Given the description of an element on the screen output the (x, y) to click on. 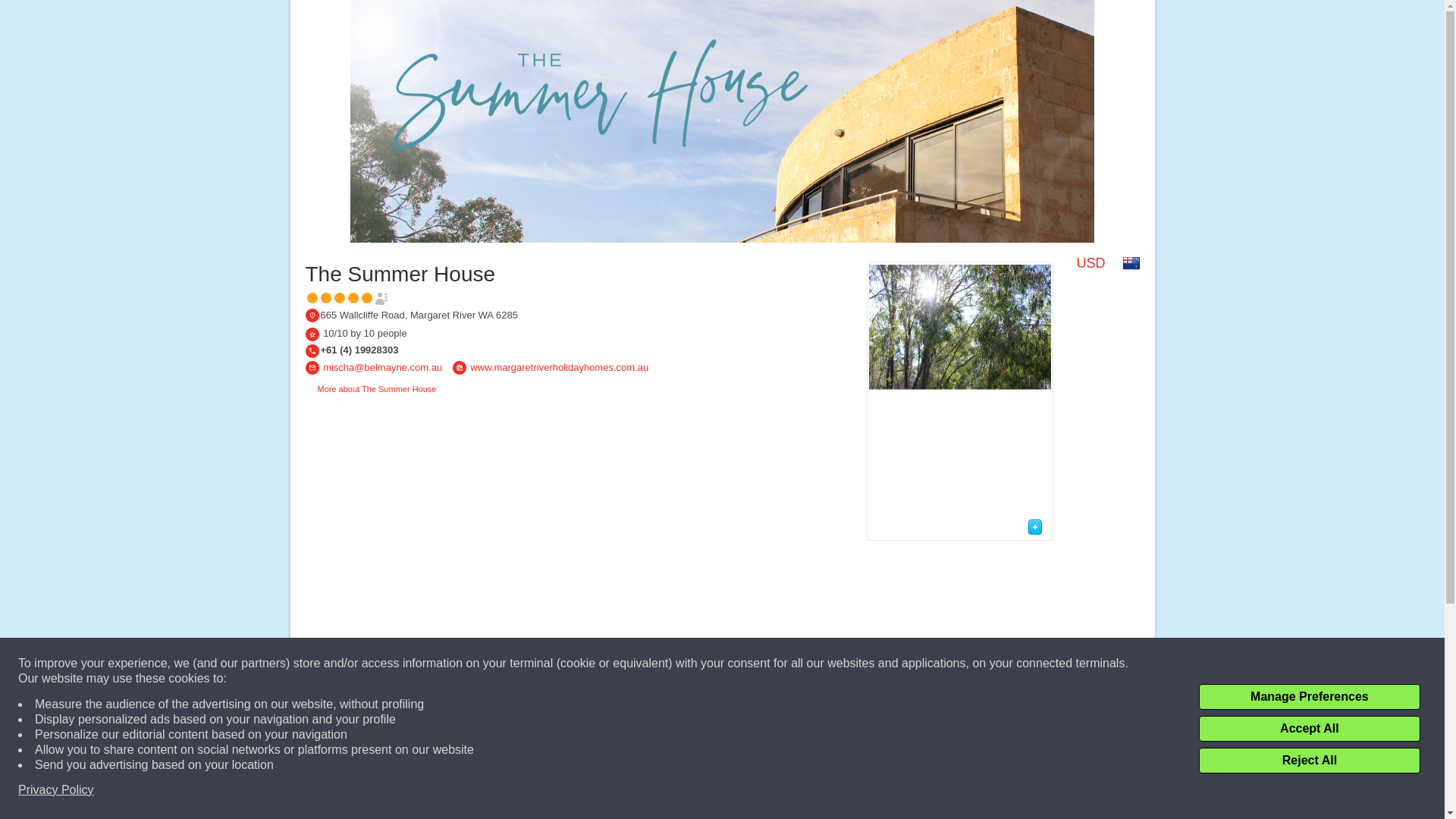
Telephone (311, 350)
Rating (311, 334)
Manage Preferences (1309, 696)
Reject All (1309, 760)
Website (458, 367)
Accept All (1309, 728)
Privacy Policy (55, 789)
Address (311, 315)
www.margaretriverholidayhomes.com.au (558, 367)
Self Rated: 5 Stars (347, 297)
View all images of The Summer House and it's Products. (1035, 526)
USD (1090, 265)
Email (311, 367)
More about The Summer House (369, 388)
